Given the description of an element on the screen output the (x, y) to click on. 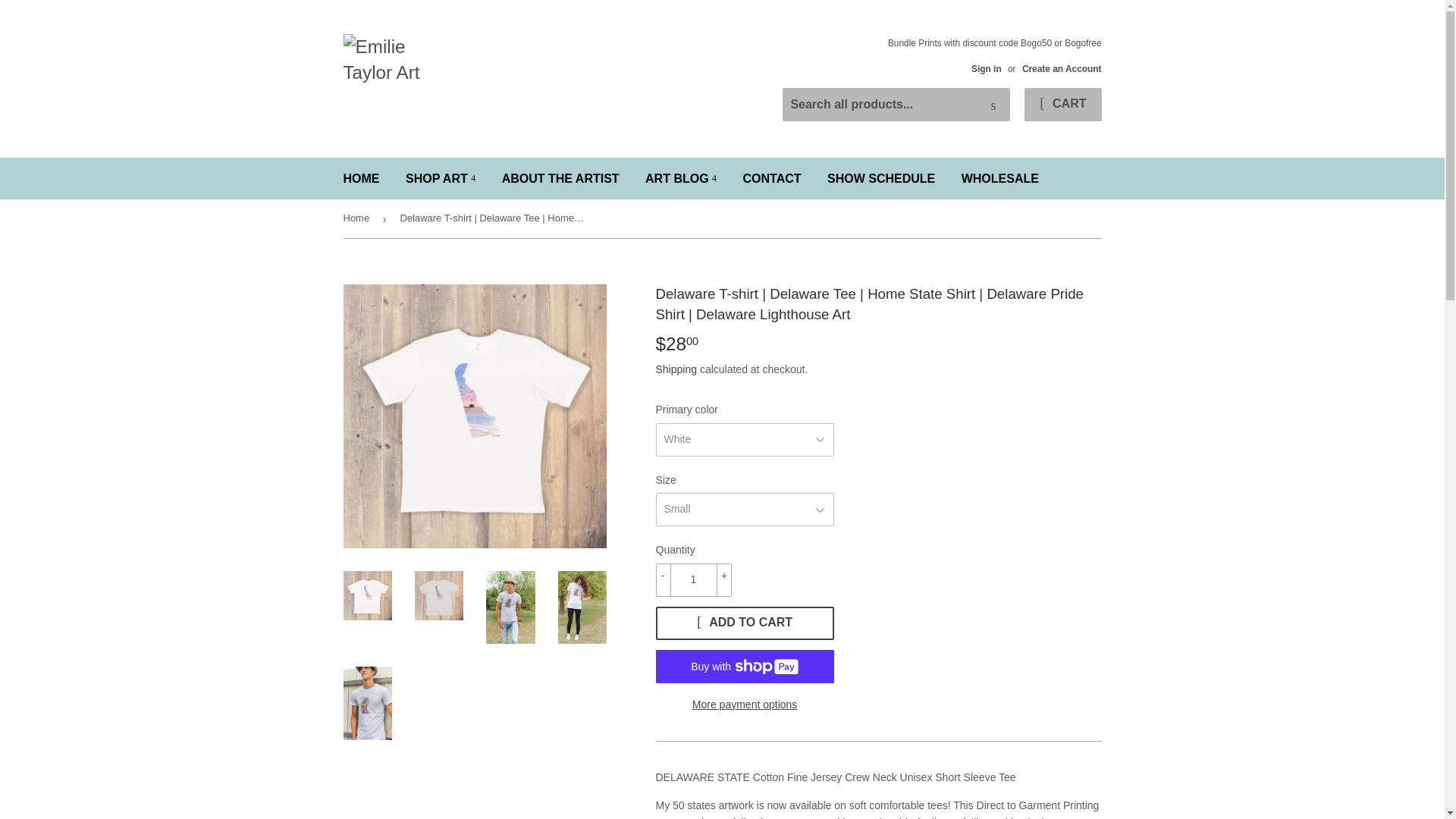
Create an Account (1062, 68)
Sign in (986, 68)
1 (692, 580)
CART (1062, 104)
Back to the frontpage (358, 218)
Search (992, 105)
